Given the description of an element on the screen output the (x, y) to click on. 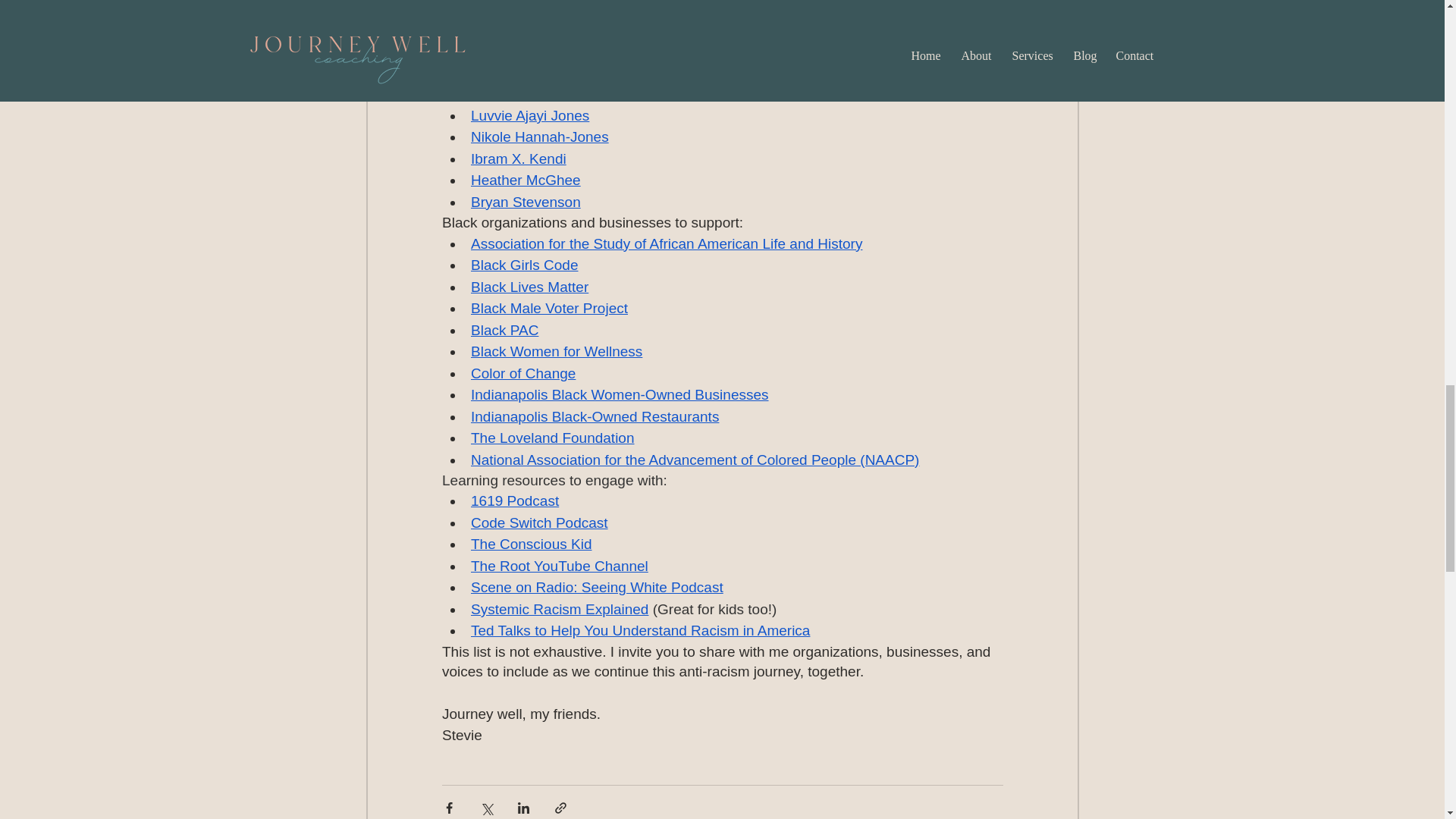
Indianapolis Black-Owned Restaurants (593, 416)
Roxane Gay (510, 72)
Black Women for Wellness (556, 351)
Tarana Burke (513, 7)
Color of Change (522, 373)
Black Lives Matter (529, 286)
Code Switch Podcast (538, 522)
Black PAC (503, 330)
Heather McGhee (524, 179)
Indianapolis Black Women-Owned Businesses (619, 394)
Amanda Gorman (524, 93)
Black Girls Code (524, 264)
Ted Talks to Help You Understand Racism in America (639, 630)
The Root YouTube Channel (558, 565)
1619 Podcast (513, 500)
